Given the description of an element on the screen output the (x, y) to click on. 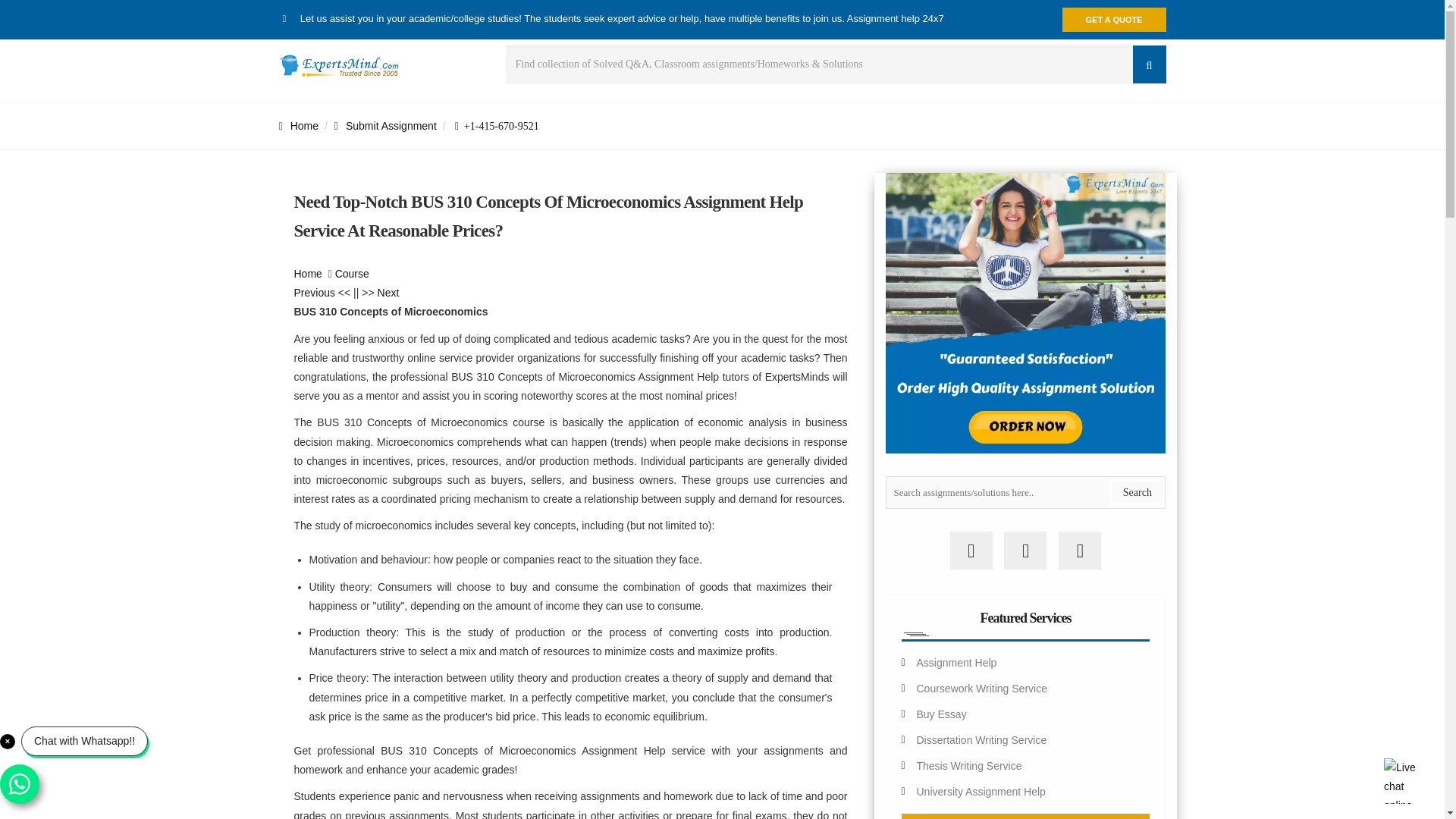
Live chat online (1406, 780)
GET A QUOTE (1114, 19)
Home (298, 125)
Next (387, 292)
Assignment Help (955, 662)
Search (1136, 492)
Buy Essay (940, 714)
Thesis Writing Service (968, 766)
assignment help (307, 273)
Order Now (1025, 816)
Home (307, 273)
GET A QUOTE (1114, 19)
Search (1136, 492)
Previous (314, 292)
Coursework Writing Service (980, 688)
